Given the description of an element on the screen output the (x, y) to click on. 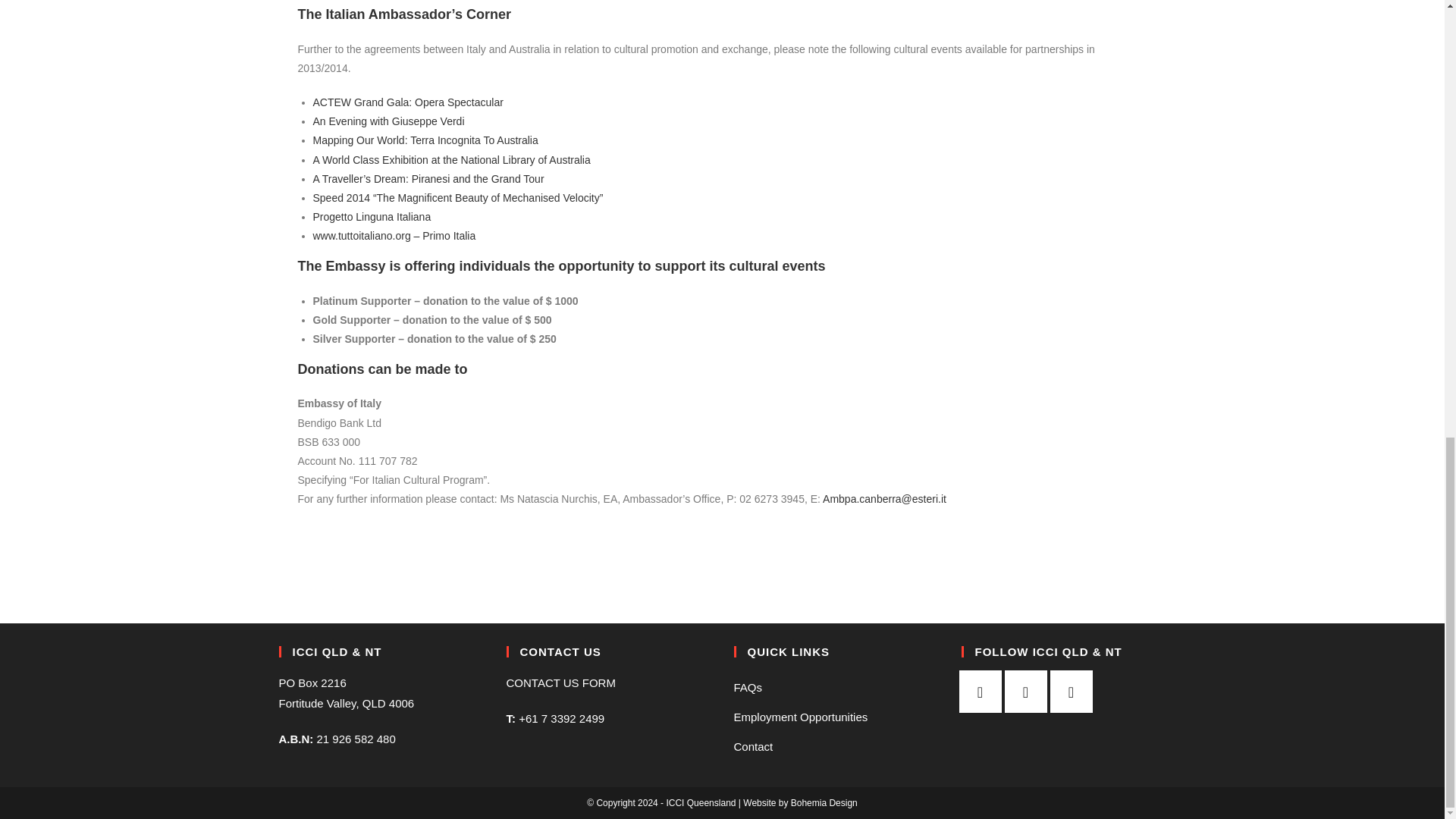
Bohemia Design - Brisbane based Web Design (799, 801)
